Given the description of an element on the screen output the (x, y) to click on. 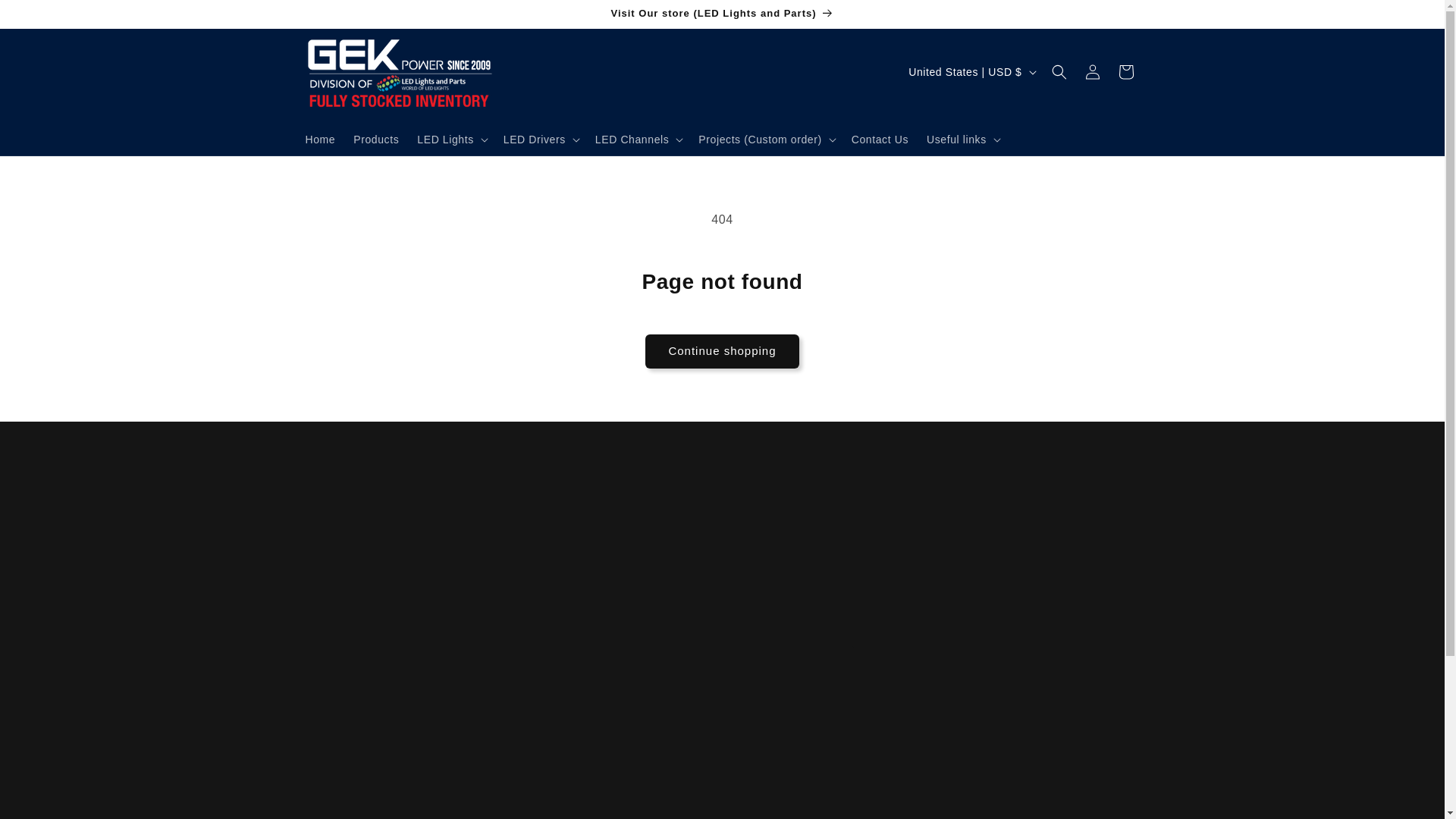
Skip to content (45, 16)
